Given the description of an element on the screen output the (x, y) to click on. 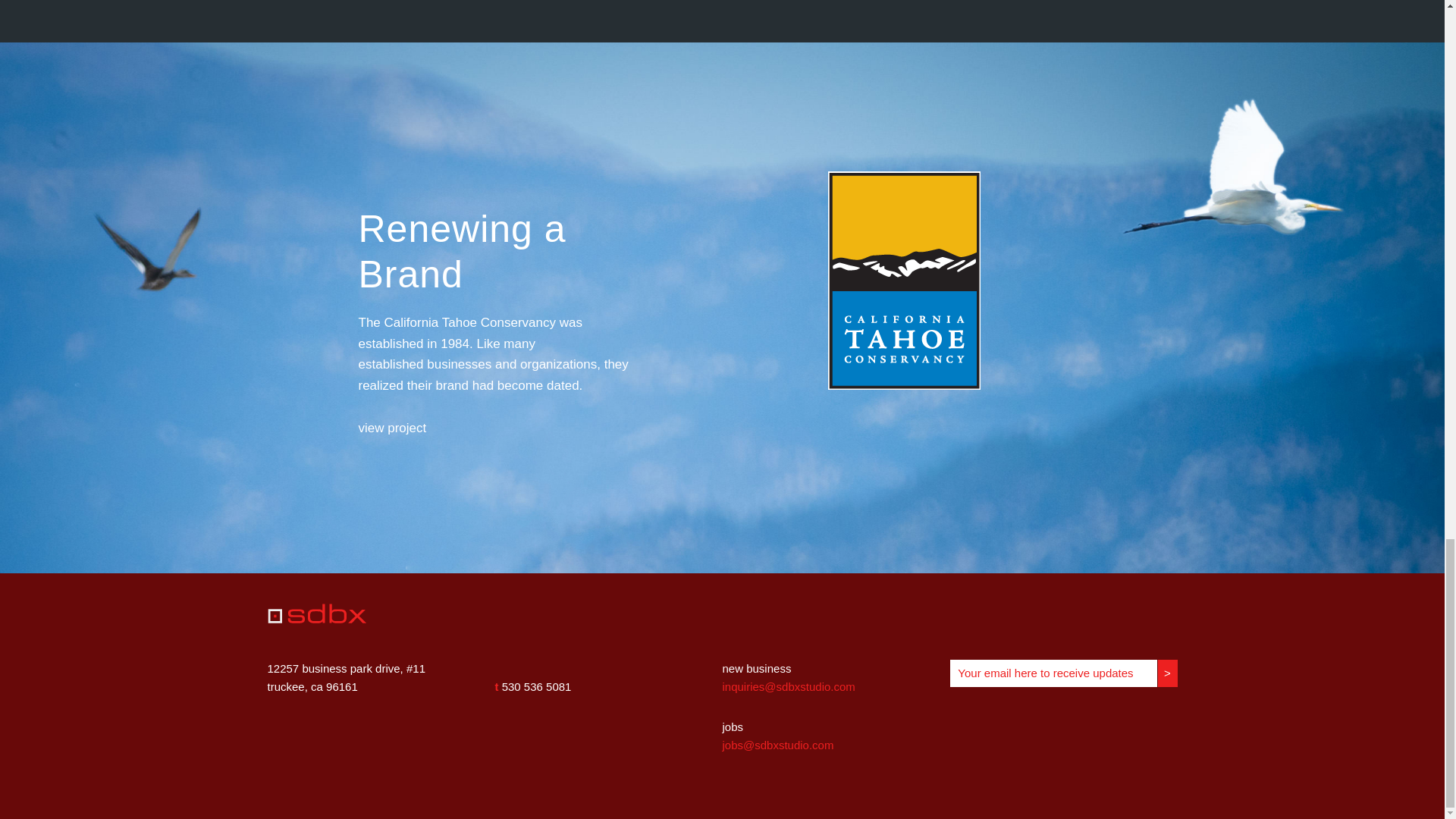
view project (392, 427)
